Given the description of an element on the screen output the (x, y) to click on. 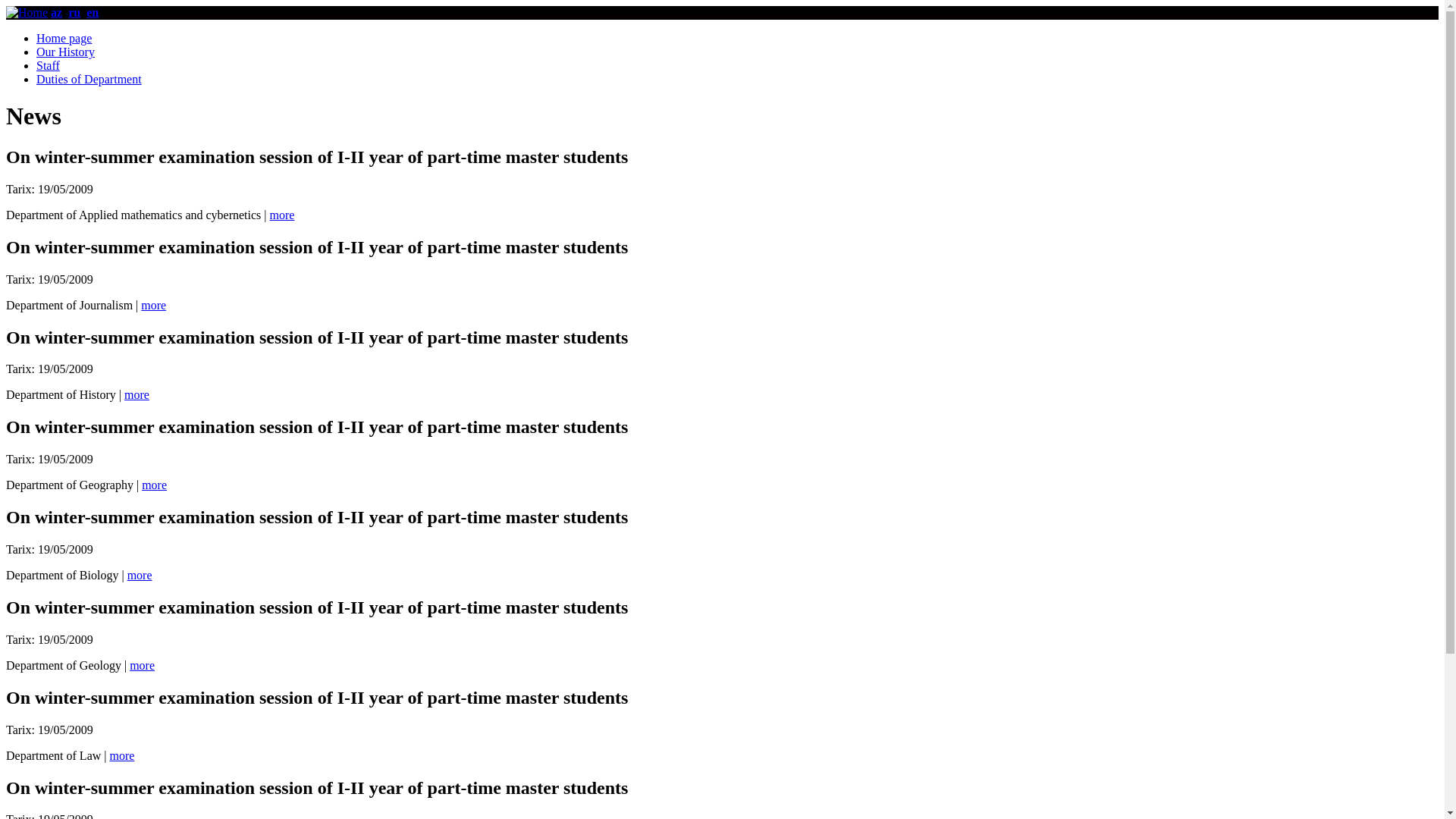
Home page Element type: text (63, 37)
Our History Element type: text (65, 51)
en Element type: text (92, 12)
more Element type: text (141, 664)
more Element type: text (121, 755)
more Element type: text (153, 484)
more Element type: text (153, 304)
more Element type: text (136, 394)
more Element type: text (281, 214)
Duties of Department Element type: text (88, 78)
Staff Element type: text (47, 65)
ru Element type: text (74, 12)
more Element type: text (139, 574)
az Element type: text (56, 12)
